Given the description of an element on the screen output the (x, y) to click on. 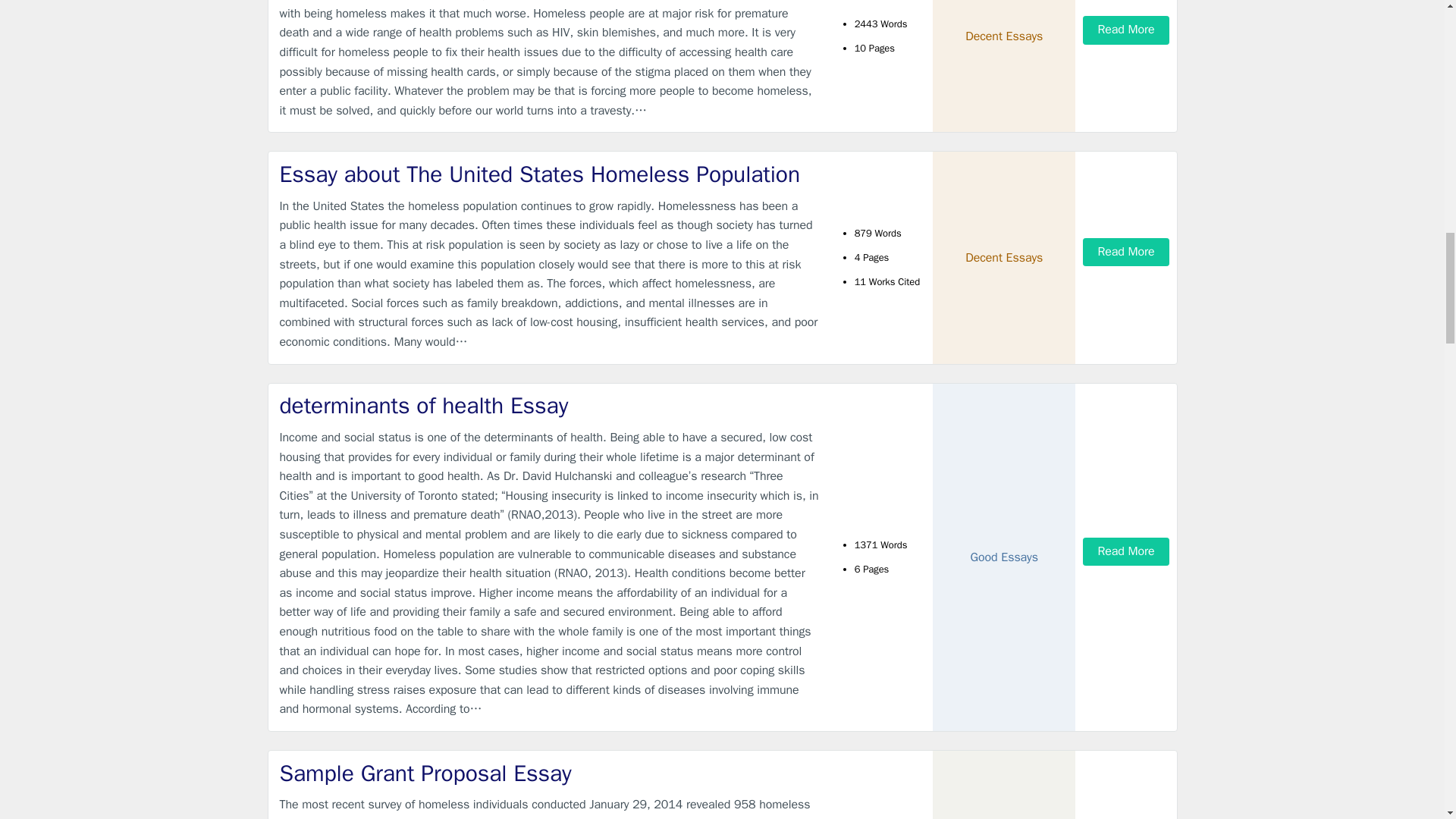
Essay about The United States Homeless Population (548, 174)
determinants of health Essay (548, 405)
Sample Grant Proposal Essay (548, 773)
Read More (1126, 551)
Read More (1126, 252)
Read More (1126, 29)
